Given the description of an element on the screen output the (x, y) to click on. 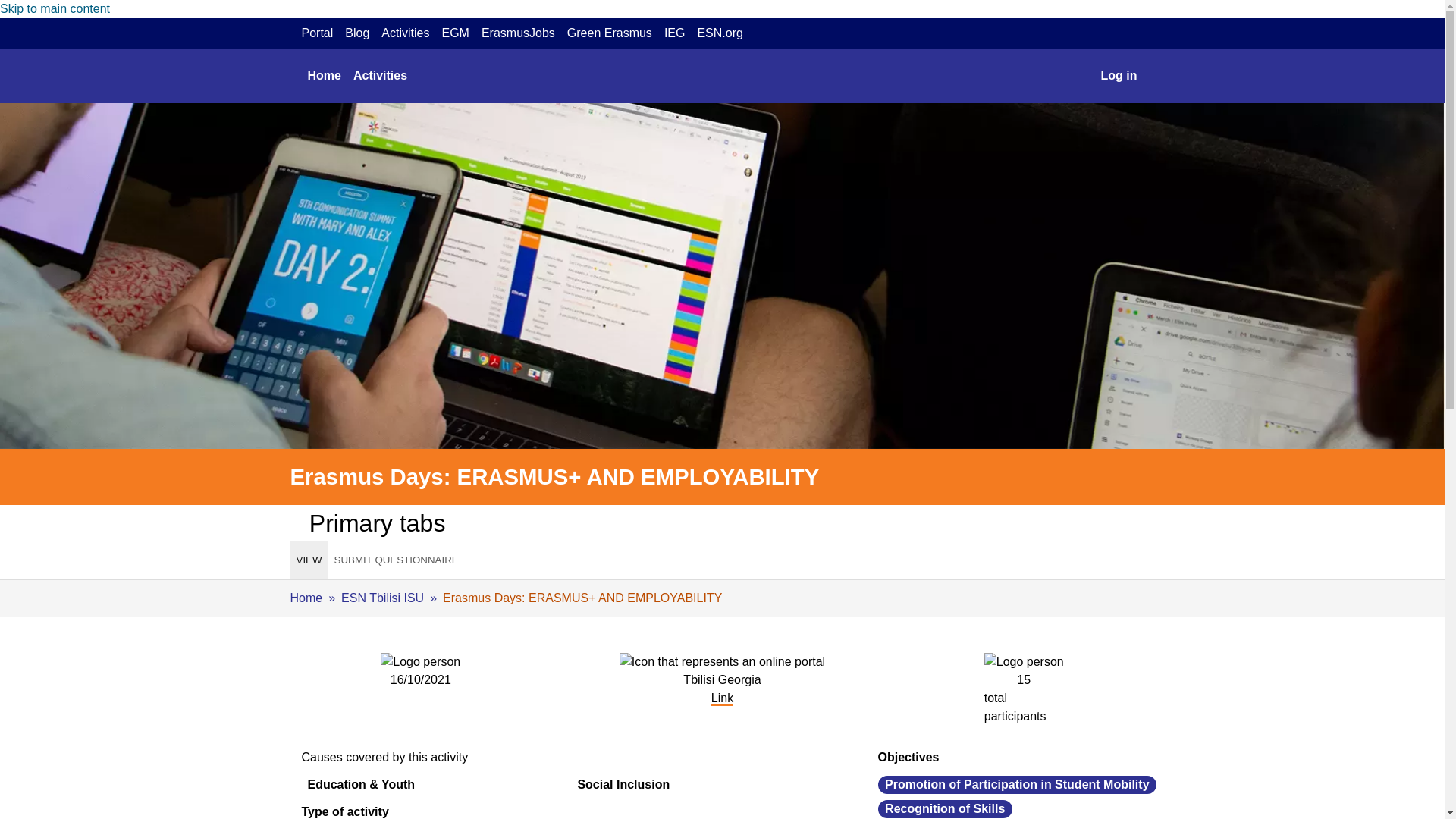
Home (324, 75)
Social Inclusion (622, 784)
ESN Tbilisi ISU (381, 597)
VIEW (308, 560)
Link (722, 698)
Portal (317, 33)
Activities (405, 33)
SUBMIT QUESTIONNAIRE (396, 560)
Log in (1118, 75)
List all activities (380, 75)
ErasmusJobs (517, 33)
EGM (454, 33)
Green Erasmus (609, 33)
Activities (380, 75)
ESN.org (719, 33)
